Given the description of an element on the screen output the (x, y) to click on. 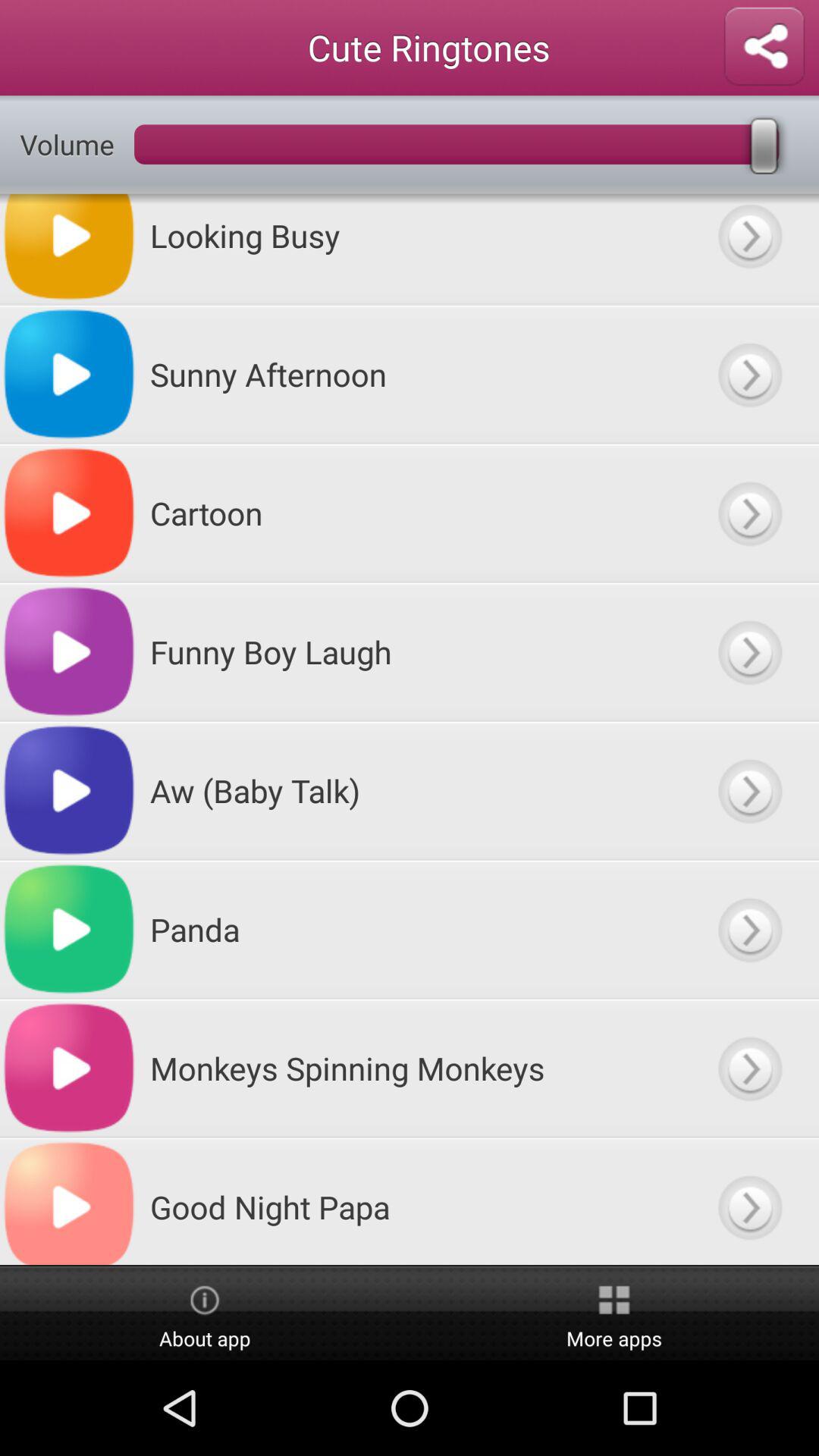
option for monkeys (749, 1068)
